Given the description of an element on the screen output the (x, y) to click on. 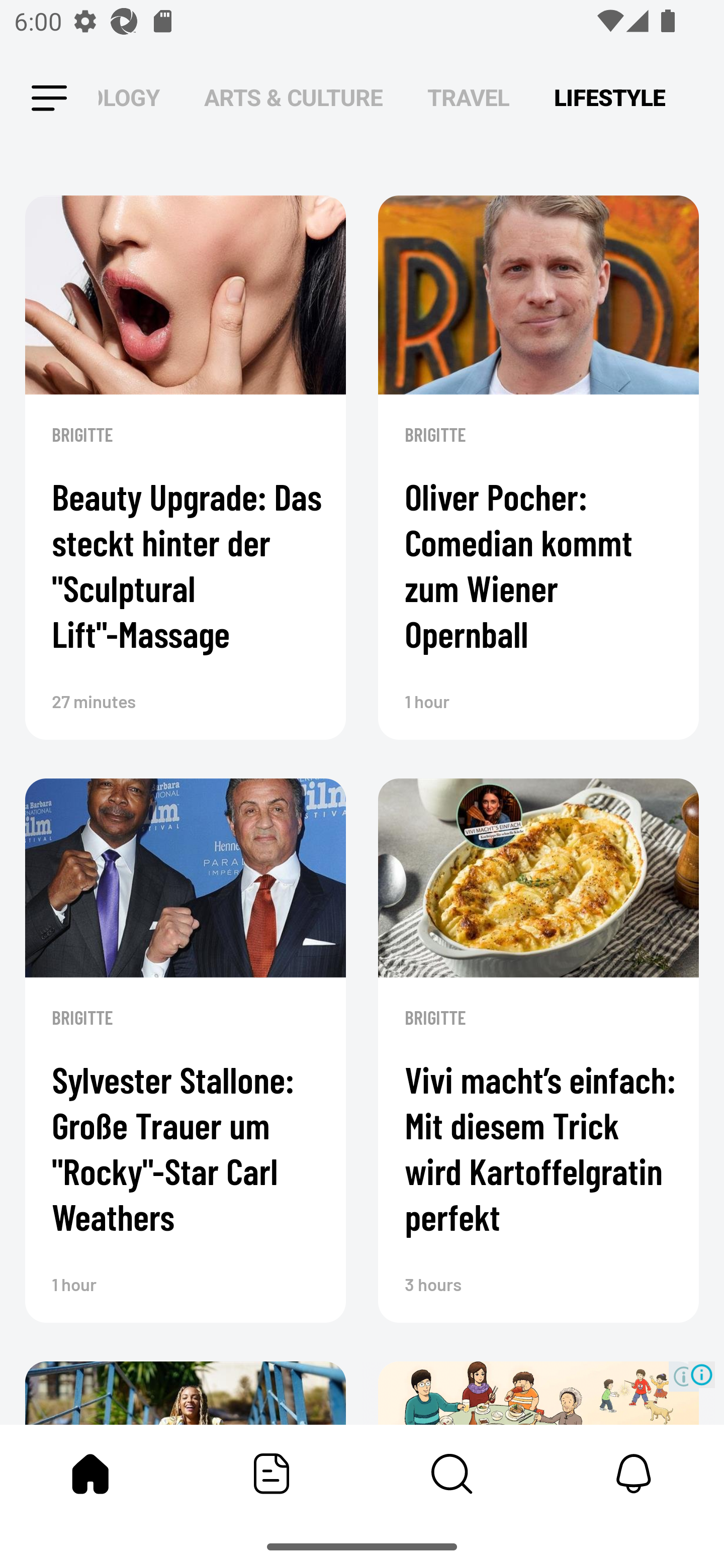
Leading Icon (49, 98)
TECHNOLOGY (129, 97)
ARTS & CULTURE (293, 97)
TRAVEL (468, 97)
Ad Choices Icon (701, 1374)
Featured (271, 1473)
Content Store (452, 1473)
Notifications (633, 1473)
